Given the description of an element on the screen output the (x, y) to click on. 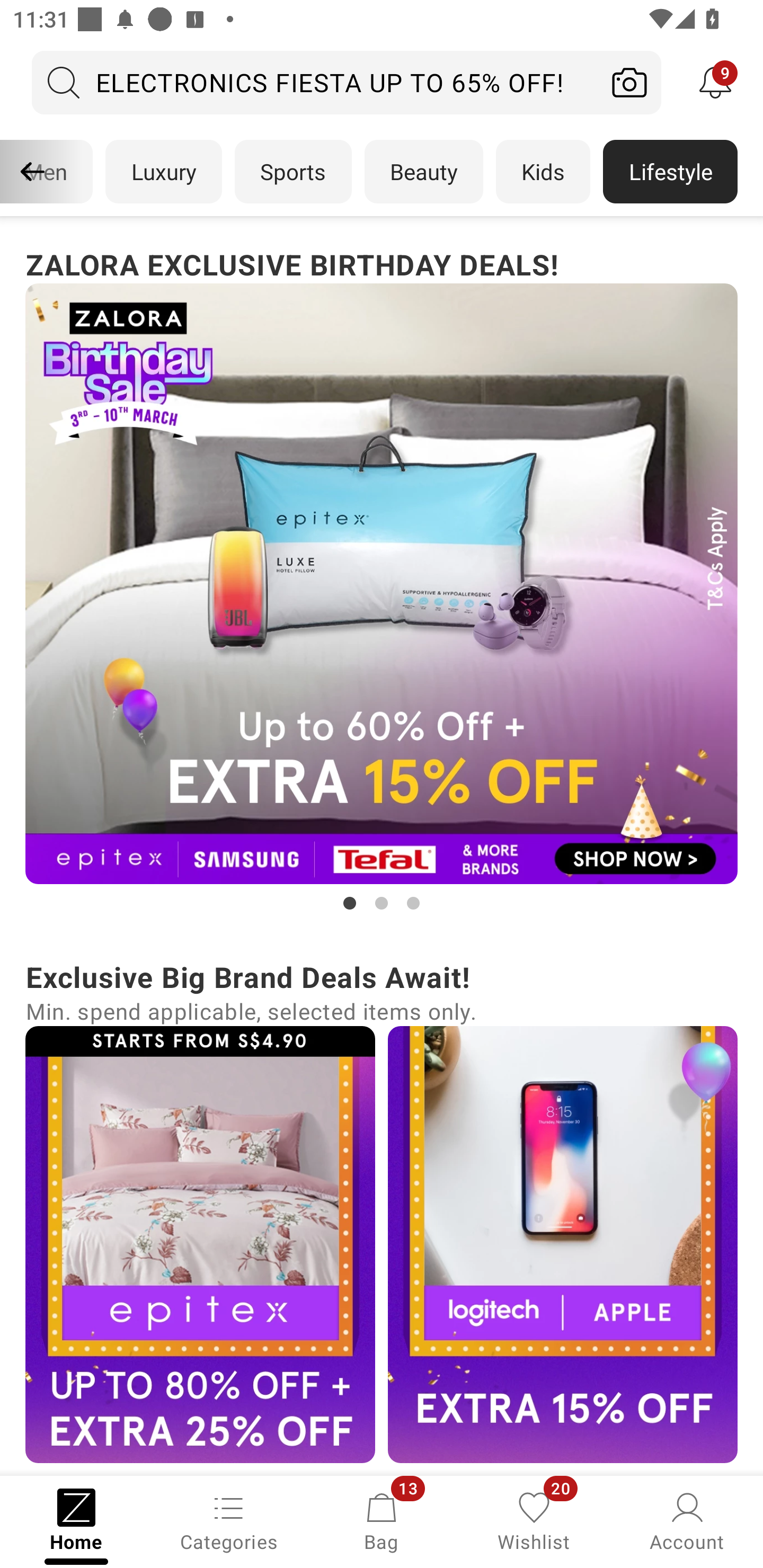
ELECTRONICS FIESTA UP TO 65% OFF! (314, 82)
Luxury (163, 171)
Sports (293, 171)
Beauty (423, 171)
Kids (542, 171)
Lifestyle (669, 171)
ZALORA EXCLUSIVE BIRTHDAY DEALS! Campaign banner (381, 578)
Campaign banner (381, 583)
Campaign banner (200, 1243)
Campaign banner (562, 1243)
Categories (228, 1519)
Bag, 13 new notifications Bag (381, 1519)
Wishlist, 20 new notifications Wishlist (533, 1519)
Account (686, 1519)
